Given the description of an element on the screen output the (x, y) to click on. 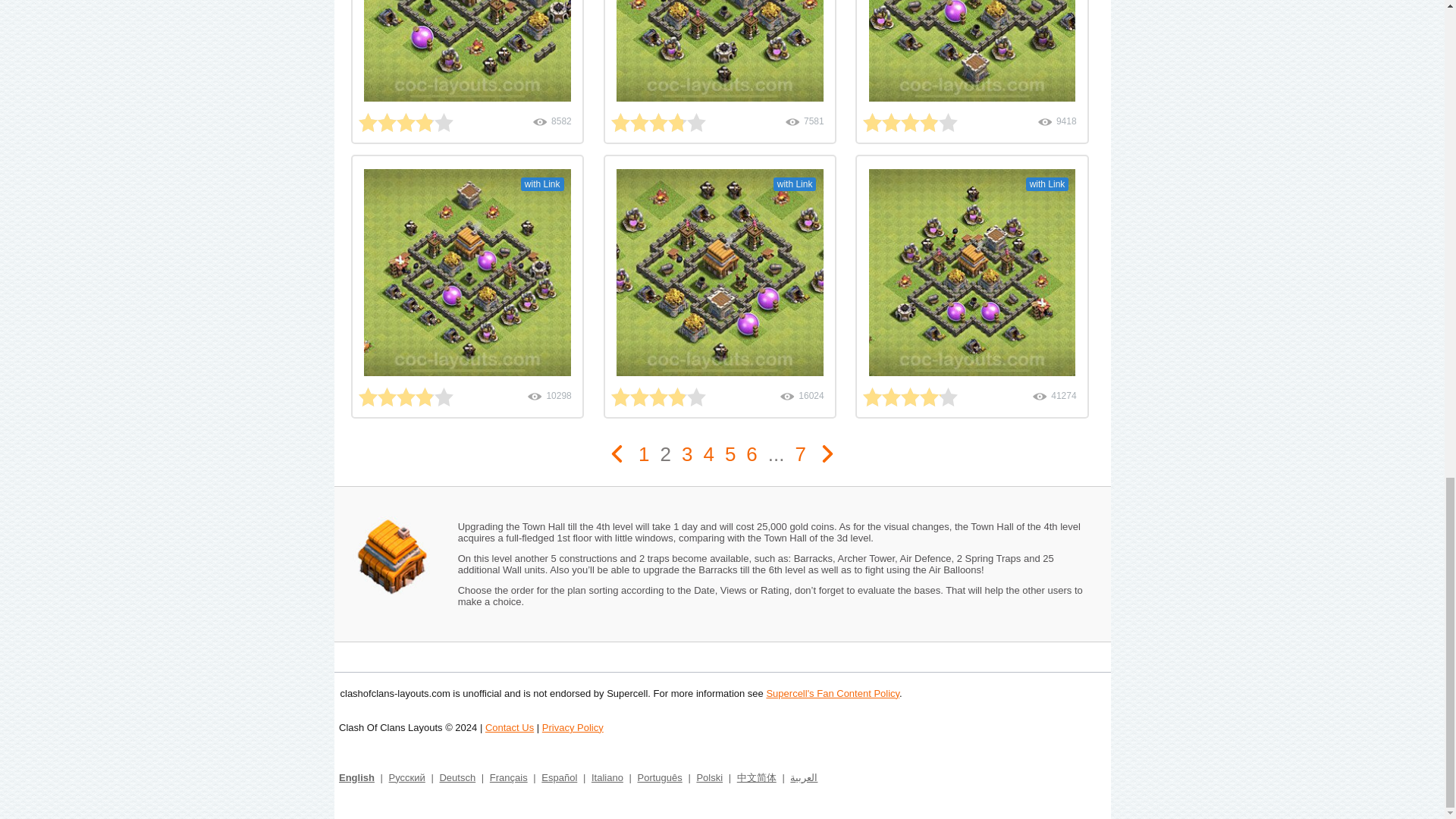
Privacy Policy (572, 727)
Contact Us (509, 727)
